Given the description of an element on the screen output the (x, y) to click on. 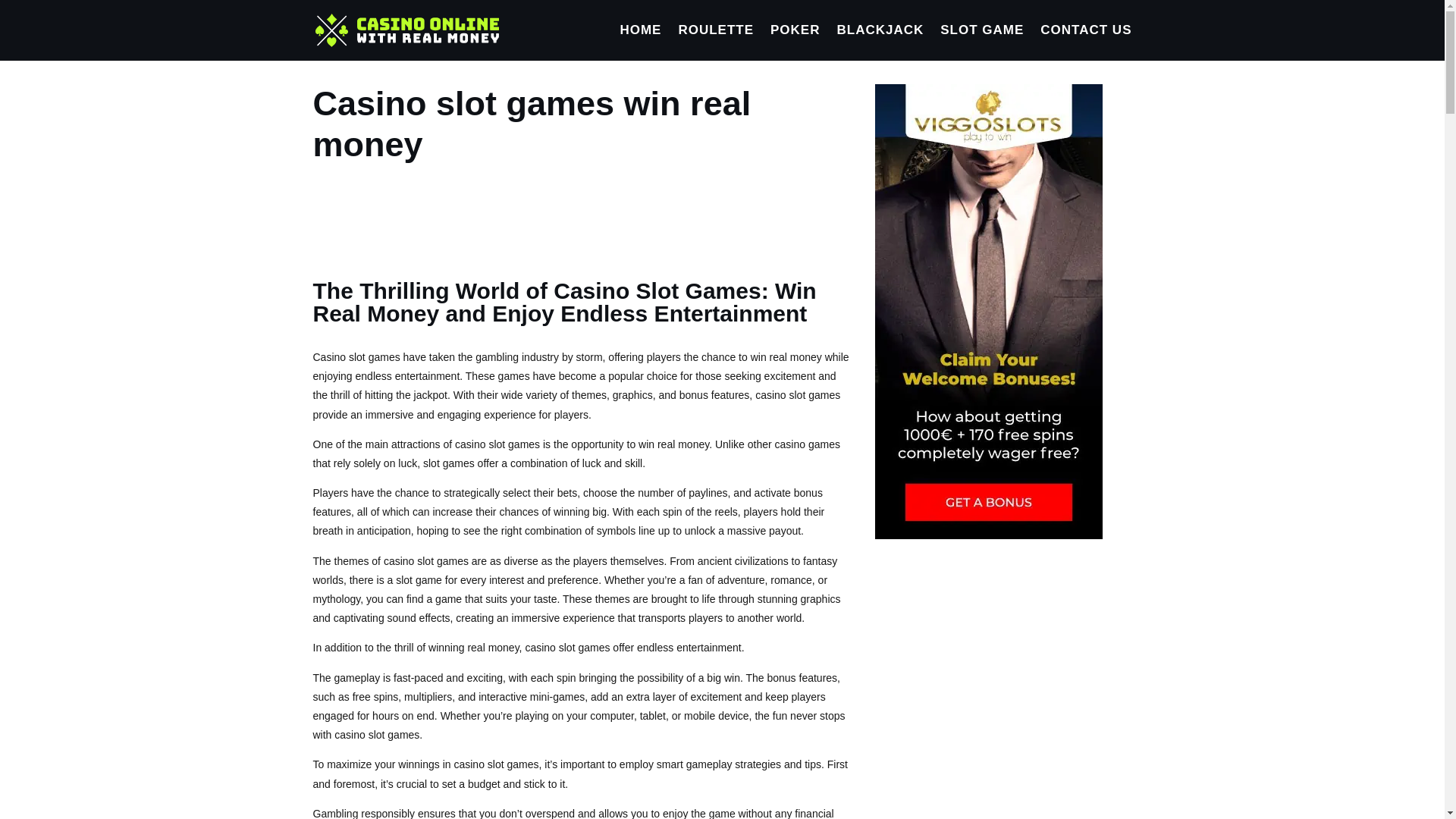
HOME (640, 42)
POKER (794, 42)
ROULETTE (716, 42)
BLACKJACK (879, 42)
SLOT GAME (981, 42)
CONTACT US (1086, 42)
